Given the description of an element on the screen output the (x, y) to click on. 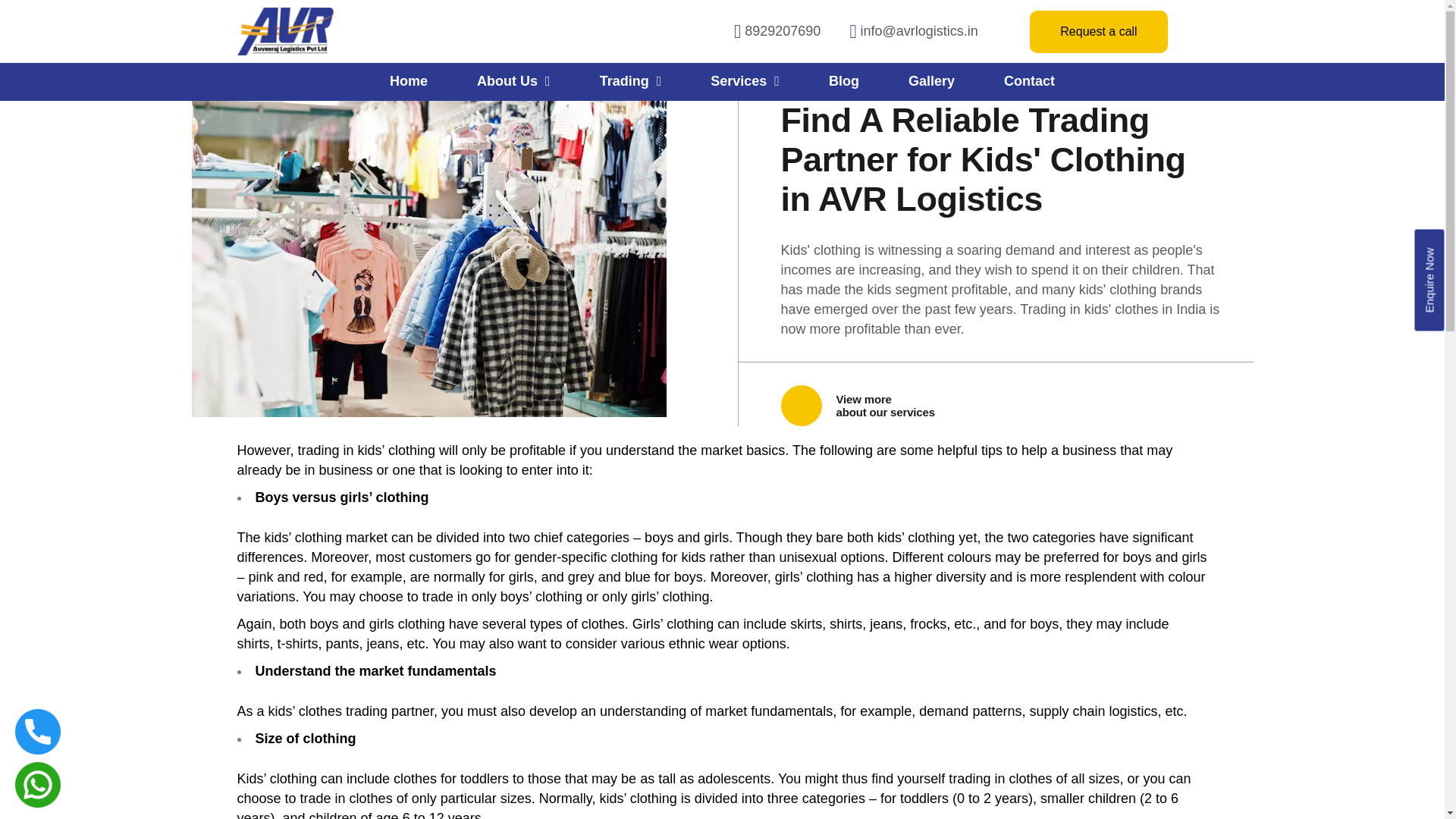
8929207690 (769, 31)
Trading (631, 80)
Home (408, 80)
Request a call (1098, 31)
About Us (513, 80)
